Given the description of an element on the screen output the (x, y) to click on. 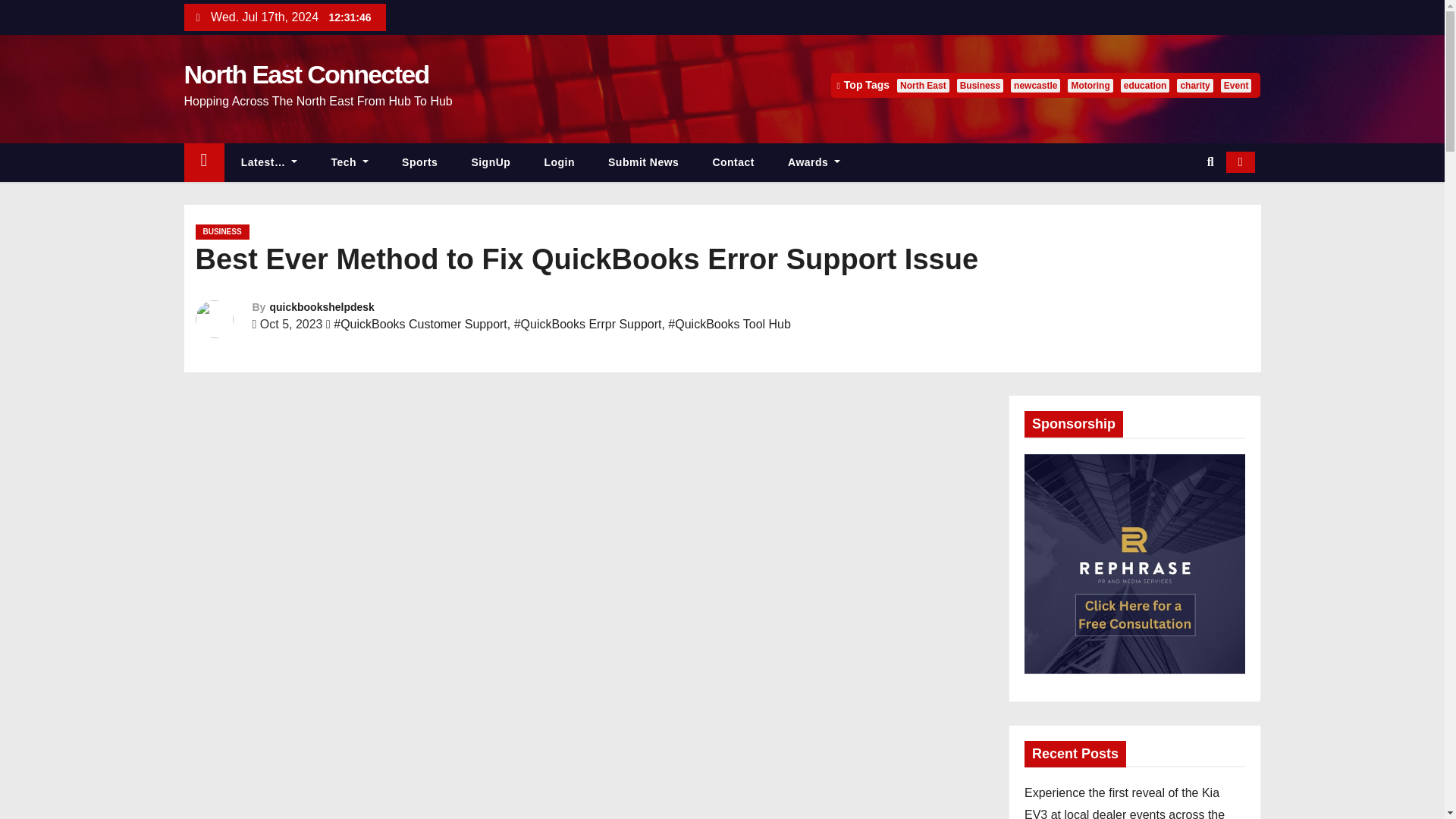
SignUp (490, 162)
North East (922, 85)
BUSINESS (221, 231)
North East Connected (305, 73)
Awards (814, 162)
Sports (419, 162)
Submit News (643, 162)
Motoring (1089, 85)
education (1145, 85)
Tech (349, 162)
Submit News (643, 162)
Business (979, 85)
quickbookshelpdesk (321, 306)
Tech (349, 162)
newcastle (1034, 85)
